Given the description of an element on the screen output the (x, y) to click on. 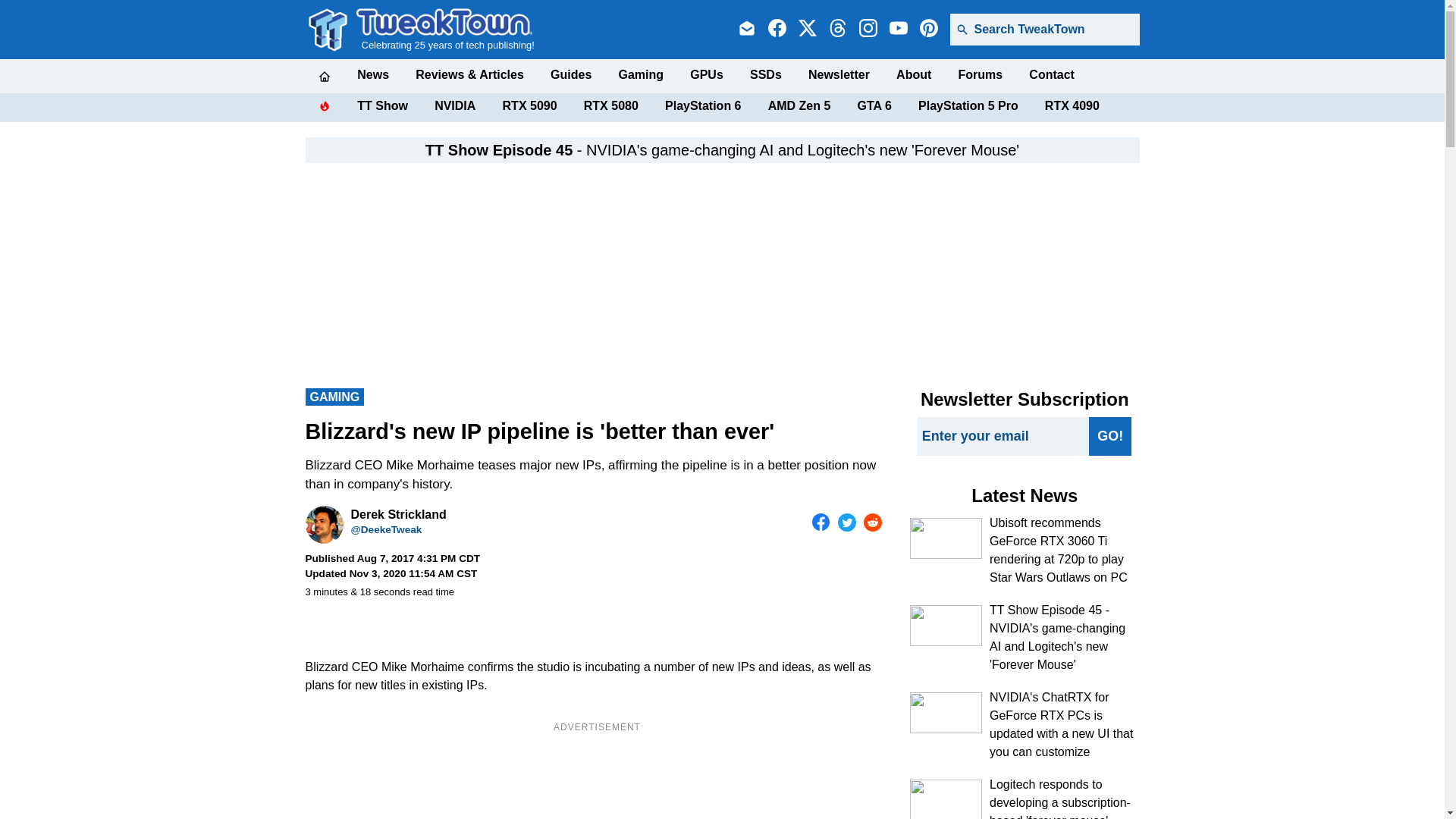
Derek Strickland (323, 524)
Share on Facebook (819, 522)
Share on Twitter (846, 522)
News (372, 74)
Celebrating 25 years of tech publishing! (445, 29)
GO! (1110, 435)
Share on Reddit (871, 522)
